Given the description of an element on the screen output the (x, y) to click on. 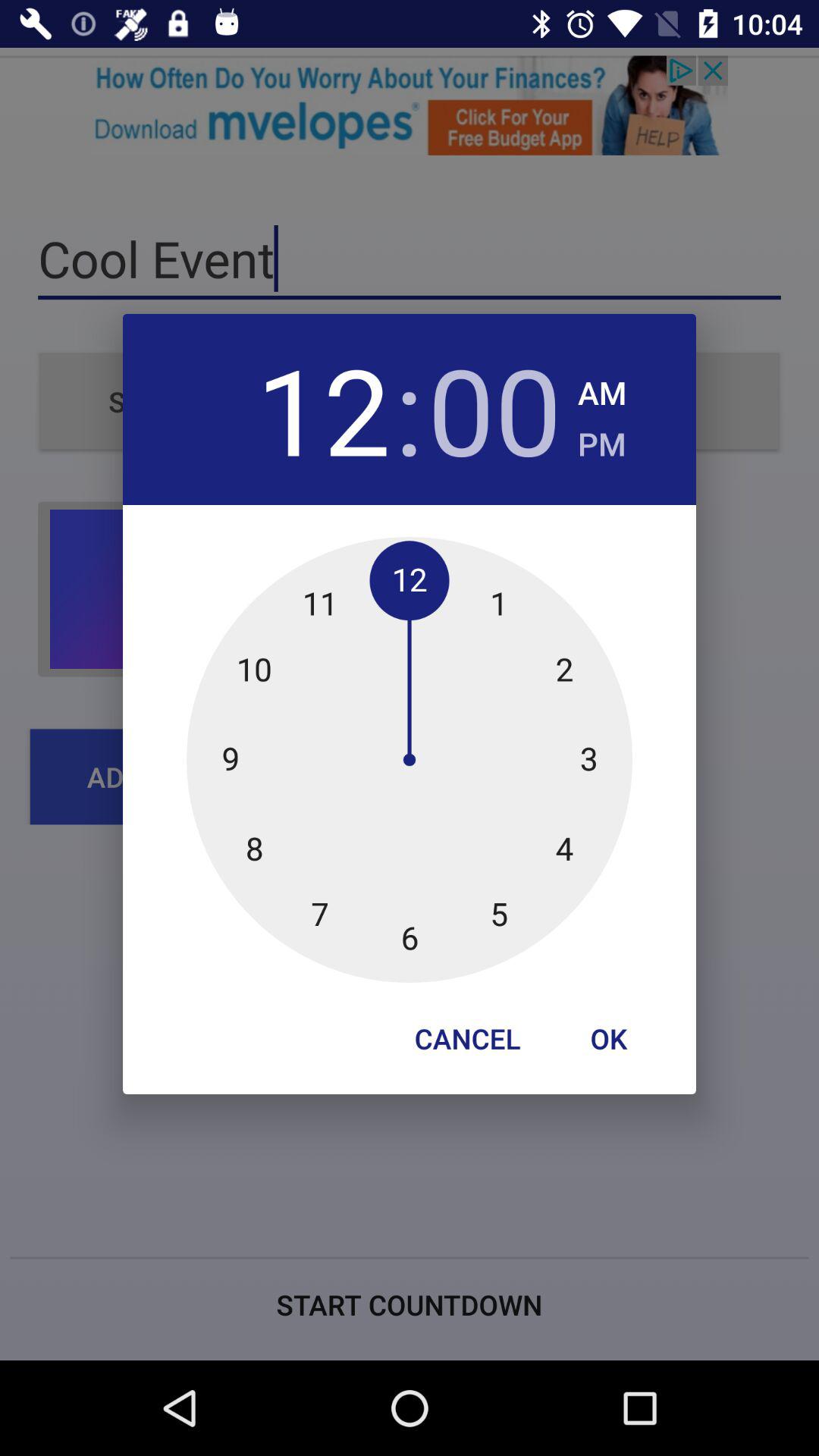
launch am (601, 388)
